Given the description of an element on the screen output the (x, y) to click on. 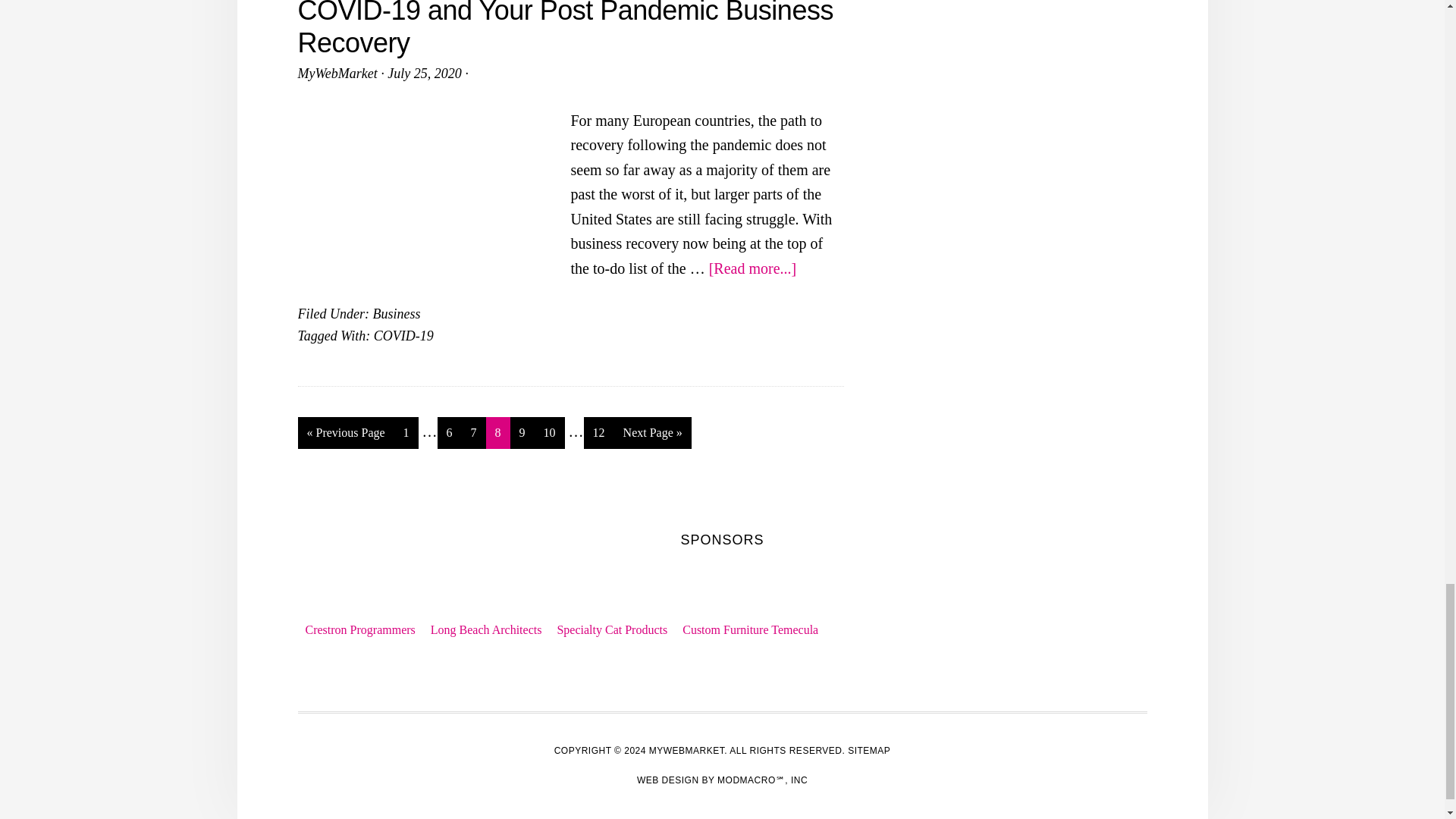
COVID-19 (403, 335)
Business (396, 313)
MyWebMarket (337, 73)
COVID-19 and Your Post Pandemic Business Recovery (564, 29)
Web Design and SEO (722, 779)
